Given the description of an element on the screen output the (x, y) to click on. 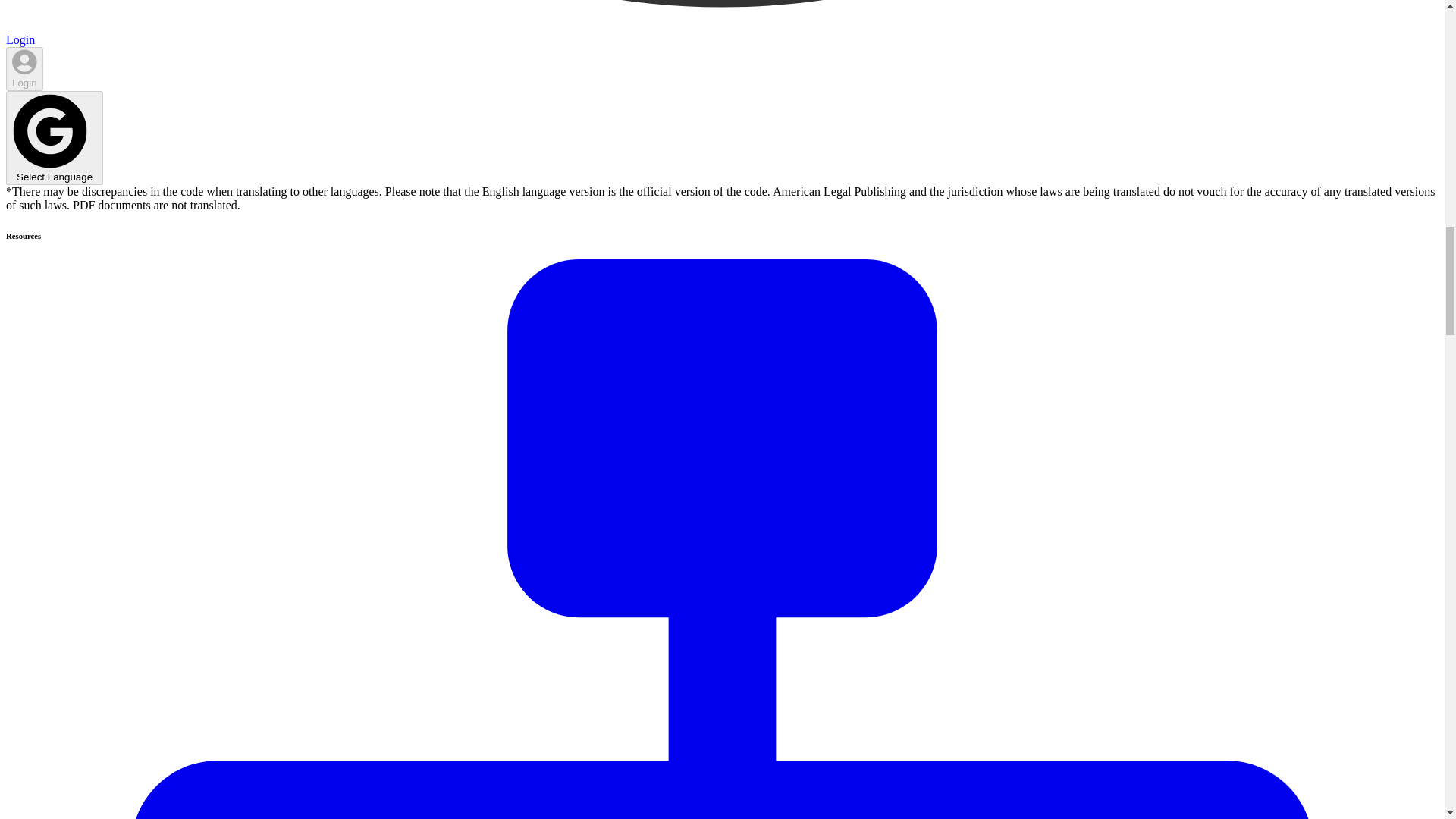
Select Language (54, 137)
